Given the description of an element on the screen output the (x, y) to click on. 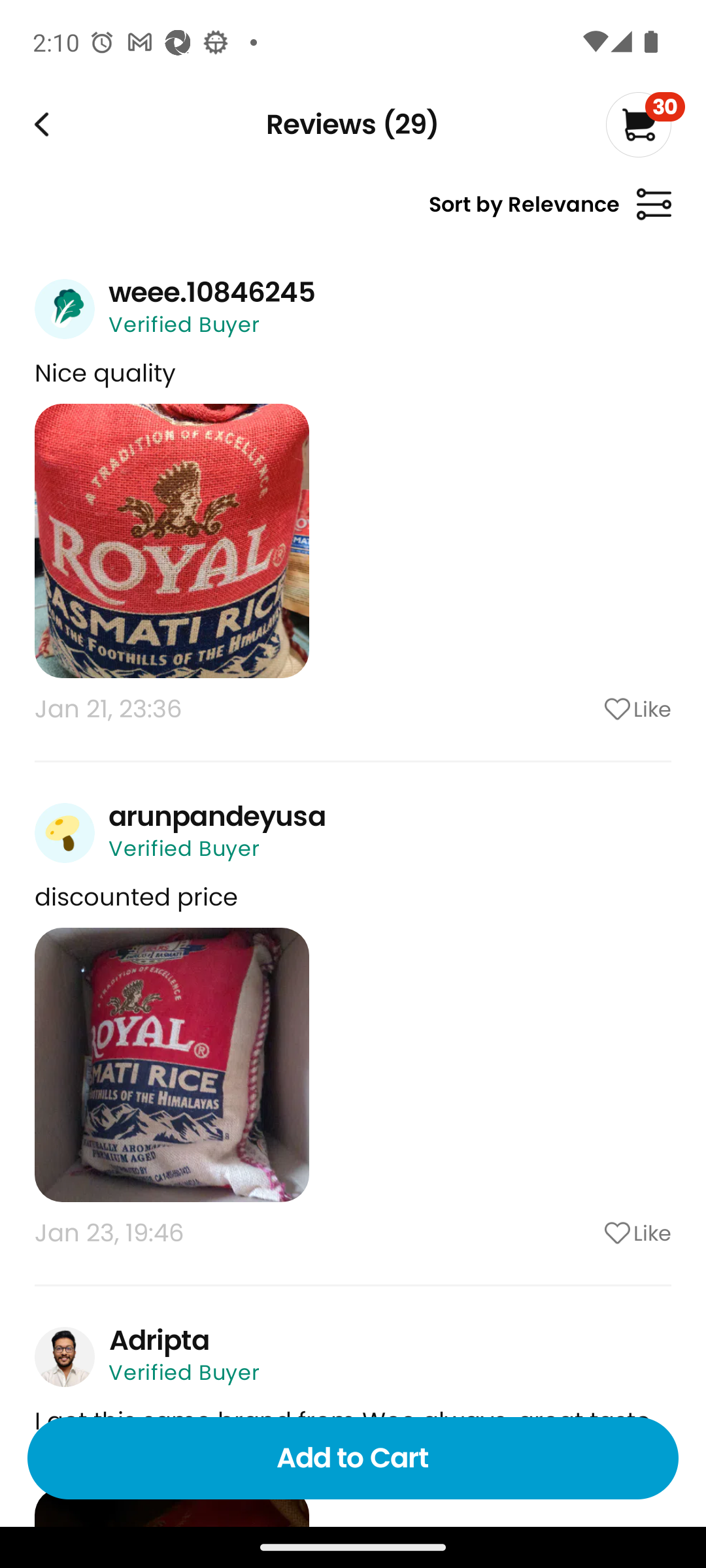
30 (644, 124)
Sort by Relevance (549, 212)
weee.10846245 (211, 292)
Verified Buyer (183, 324)
Like (585, 708)
arunpandeyusa (217, 815)
Verified Buyer (183, 848)
Like (585, 1233)
Adripta (158, 1339)
Verified Buyer (183, 1372)
Add to Cart (352, 1458)
